Given the description of an element on the screen output the (x, y) to click on. 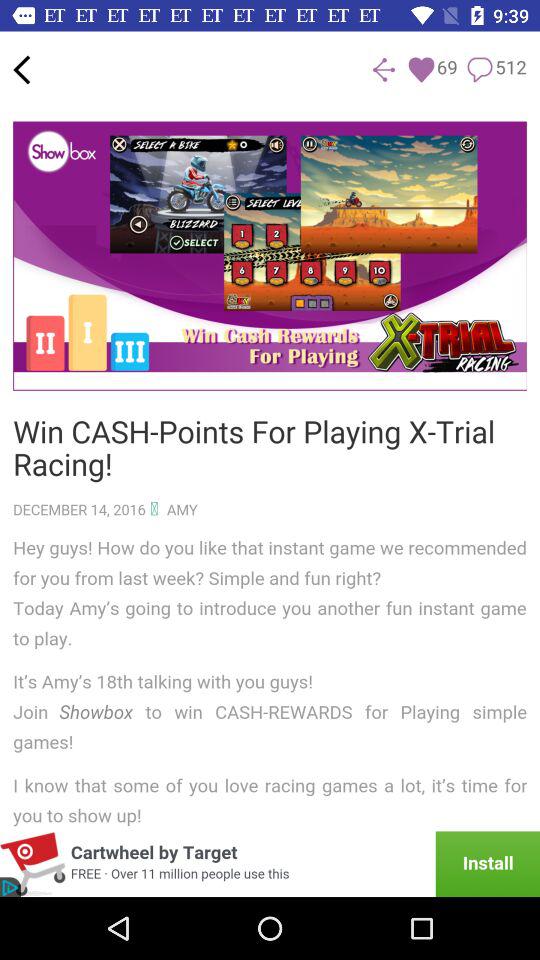
back option (21, 69)
